Given the description of an element on the screen output the (x, y) to click on. 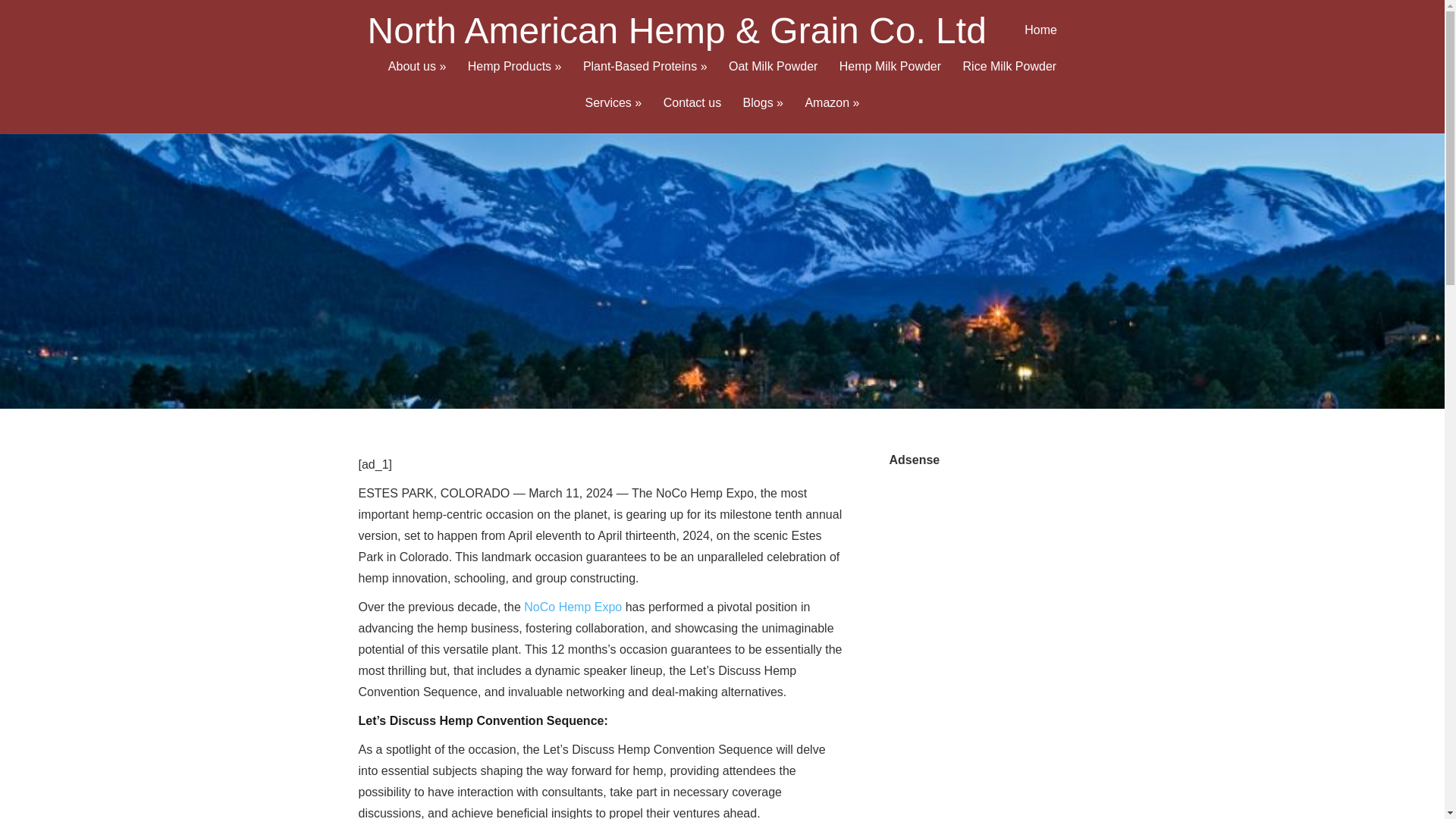
Plant-Based Proteins (644, 78)
Hemp Milk Powder (889, 78)
About us (416, 78)
Rice Milk Powder (1009, 78)
Oat Milk Powder (773, 78)
Home (1039, 42)
Amazon (830, 115)
Hemp Products (514, 78)
Contact us (691, 115)
Blogs (762, 115)
